Given the description of an element on the screen output the (x, y) to click on. 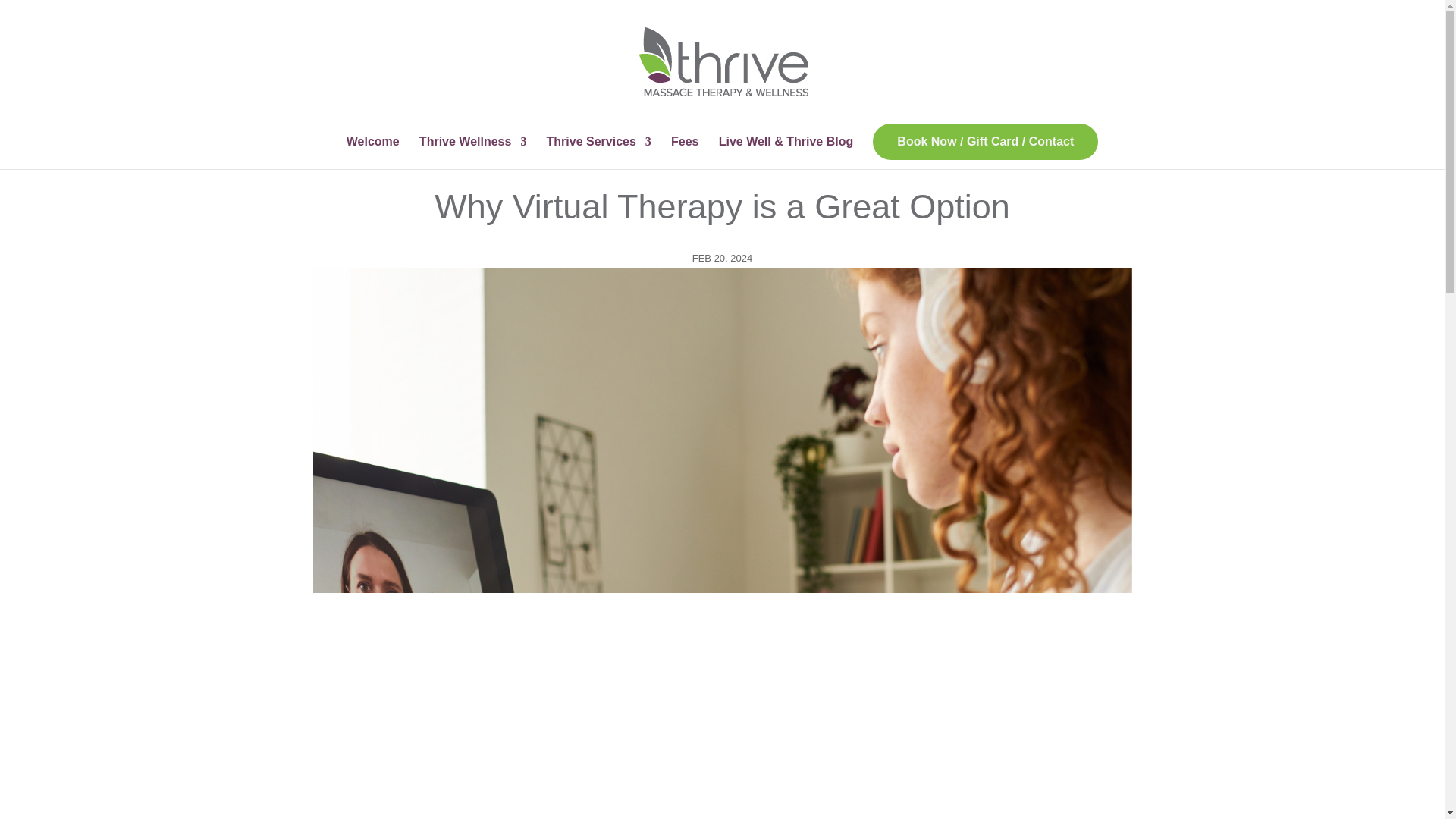
Thrive Services (598, 152)
Thrive Wellness (473, 152)
Welcome (372, 152)
